Given the description of an element on the screen output the (x, y) to click on. 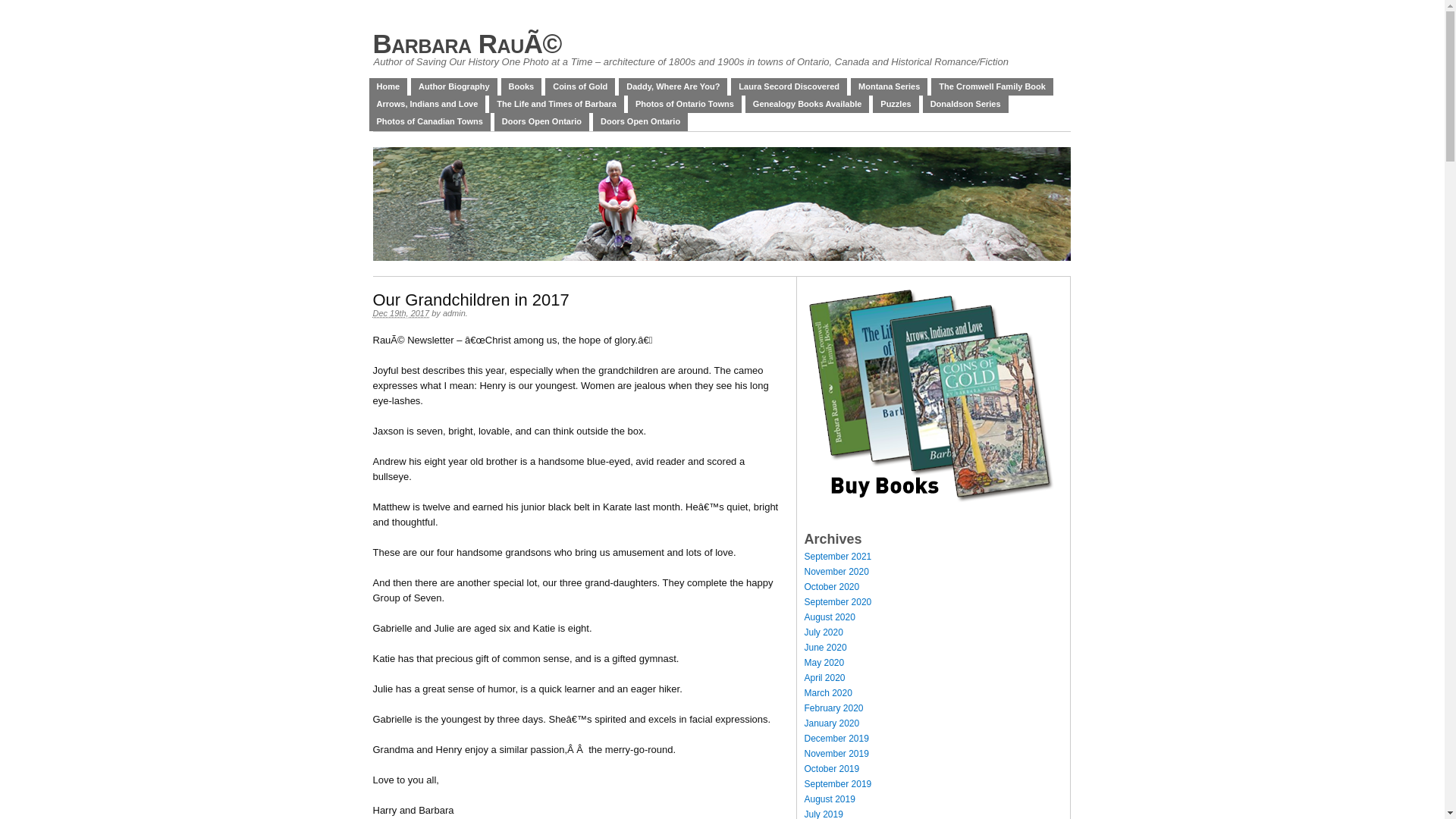
Montana Series Element type: text (888, 86)
Doors Open Ontario Element type: text (640, 121)
Donaldson Series Element type: text (965, 103)
September 2021 Element type: text (837, 556)
Coins of Gold Element type: text (580, 86)
December 2019 Element type: text (835, 738)
Puzzles Element type: text (895, 103)
Daddy, Where Are You? Element type: text (672, 86)
Photos of Ontario Towns Element type: text (684, 103)
Photos of Canadian Towns Element type: text (428, 121)
May 2020 Element type: text (823, 662)
Dec 19th, 2017 Element type: text (401, 313)
June 2020 Element type: text (824, 647)
The Cromwell Family Book Element type: text (992, 86)
September 2020 Element type: text (837, 601)
Books Element type: text (521, 86)
Laura Secord Discovered Element type: text (789, 86)
Author Biography Element type: text (454, 86)
October 2020 Element type: text (831, 586)
November 2020 Element type: text (835, 571)
September 2019 Element type: text (837, 783)
August 2019 Element type: text (828, 798)
February 2020 Element type: text (832, 707)
November 2019 Element type: text (835, 753)
admin Element type: text (453, 312)
The Life and Times of Barbara Element type: text (556, 103)
October 2019 Element type: text (831, 768)
July 2020 Element type: text (822, 632)
August 2020 Element type: text (828, 616)
Doors Open Ontario Element type: text (541, 121)
January 2020 Element type: text (831, 723)
April 2020 Element type: text (823, 677)
Home Element type: text (387, 86)
March 2020 Element type: text (827, 692)
Genealogy Books Available Element type: text (807, 103)
Arrows, Indians and Love Element type: text (426, 103)
